Given the description of an element on the screen output the (x, y) to click on. 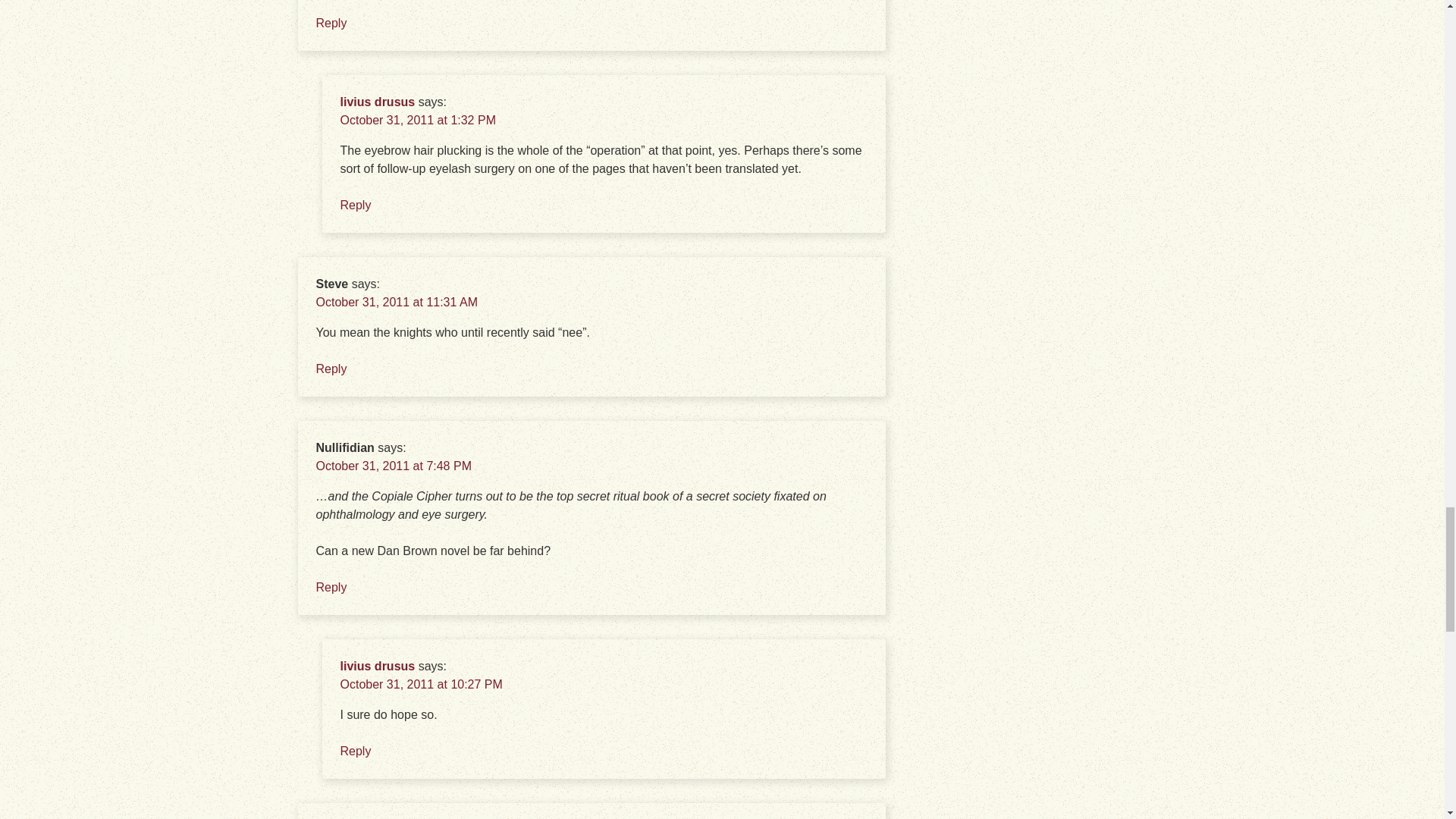
Reply (330, 368)
October 31, 2011 at 1:32 PM (417, 119)
Reply (330, 22)
October 31, 2011 at 10:27 PM (420, 684)
livius drusus (376, 666)
Reply (330, 586)
October 31, 2011 at 11:31 AM (396, 301)
October 31, 2011 at 7:48 PM (392, 465)
Reply (355, 205)
livius drusus (376, 101)
